Given the description of an element on the screen output the (x, y) to click on. 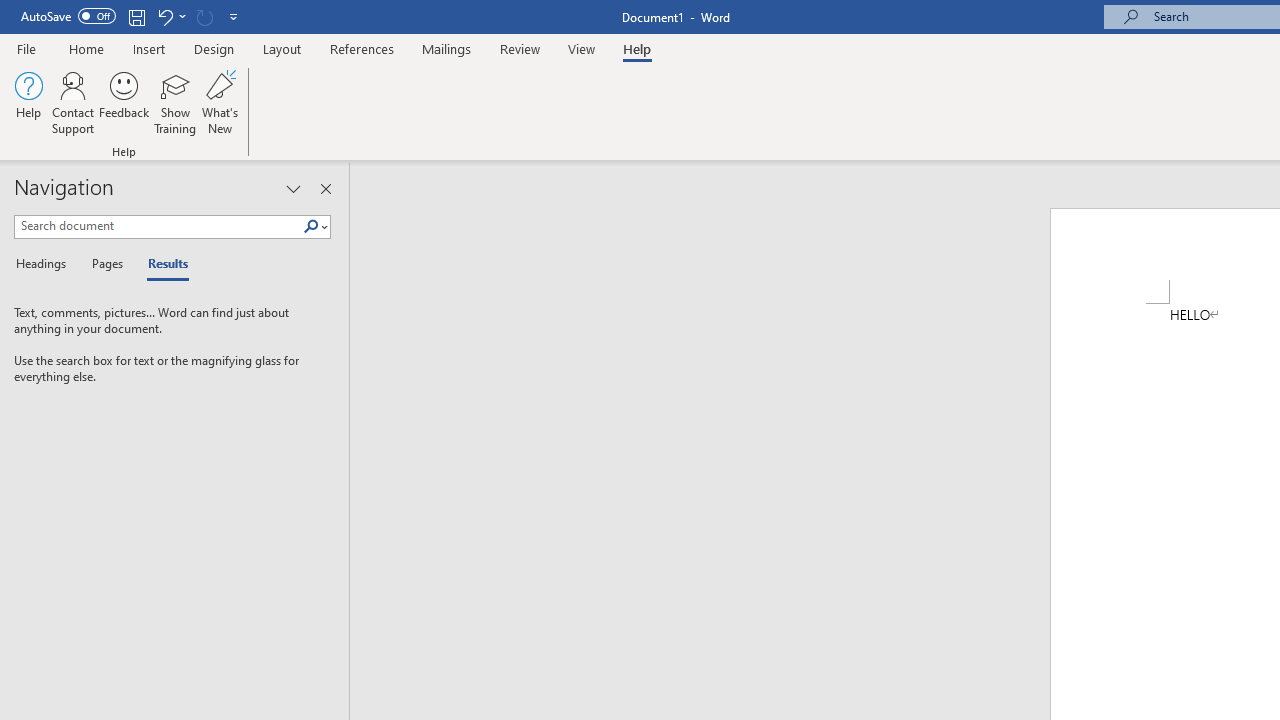
Layout (282, 48)
System (10, 11)
Feedback (124, 102)
Home (86, 48)
Help (28, 102)
